Given the description of an element on the screen output the (x, y) to click on. 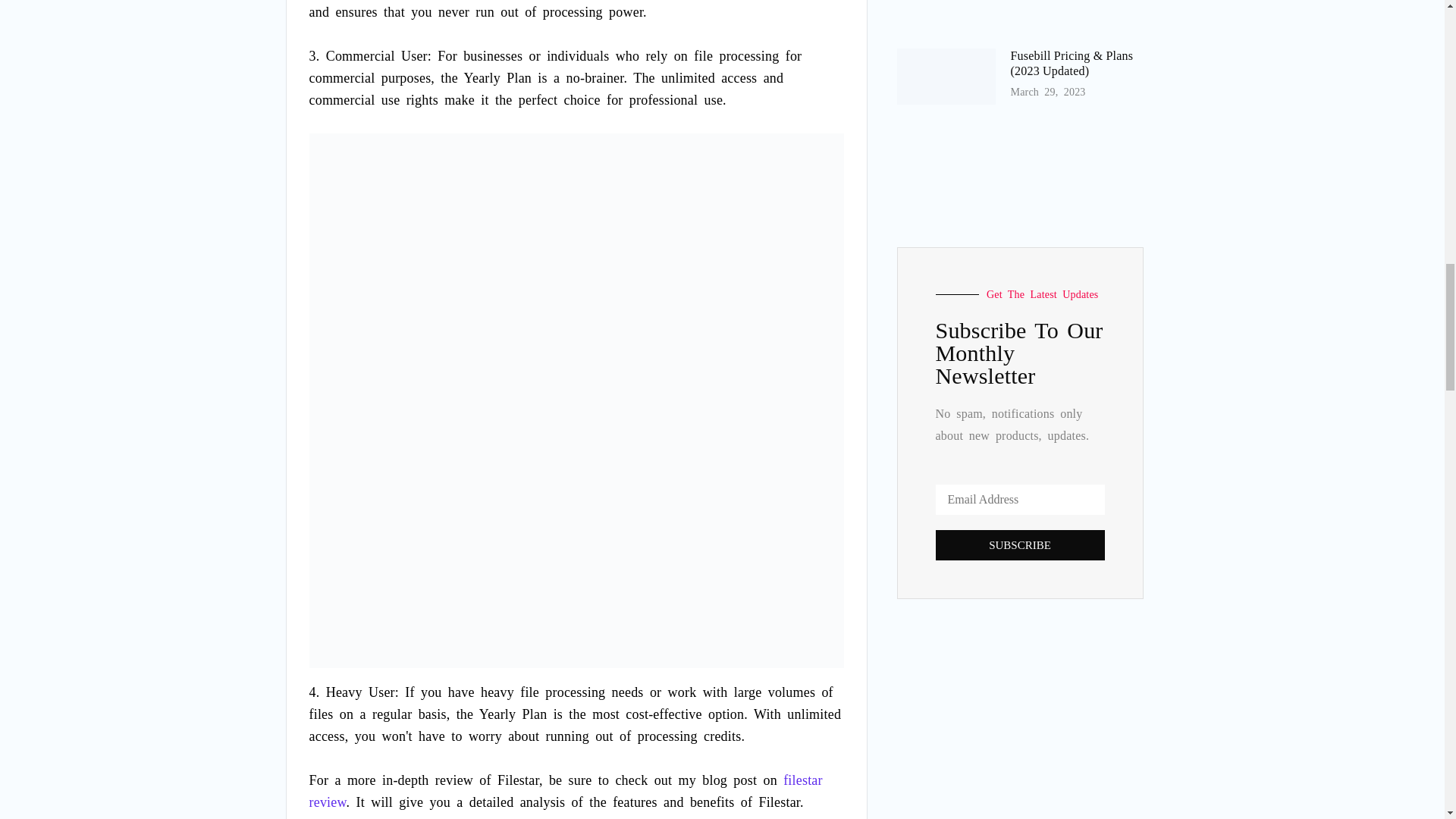
filestar review (565, 791)
SUBSCRIBE (1020, 544)
